Given the description of an element on the screen output the (x, y) to click on. 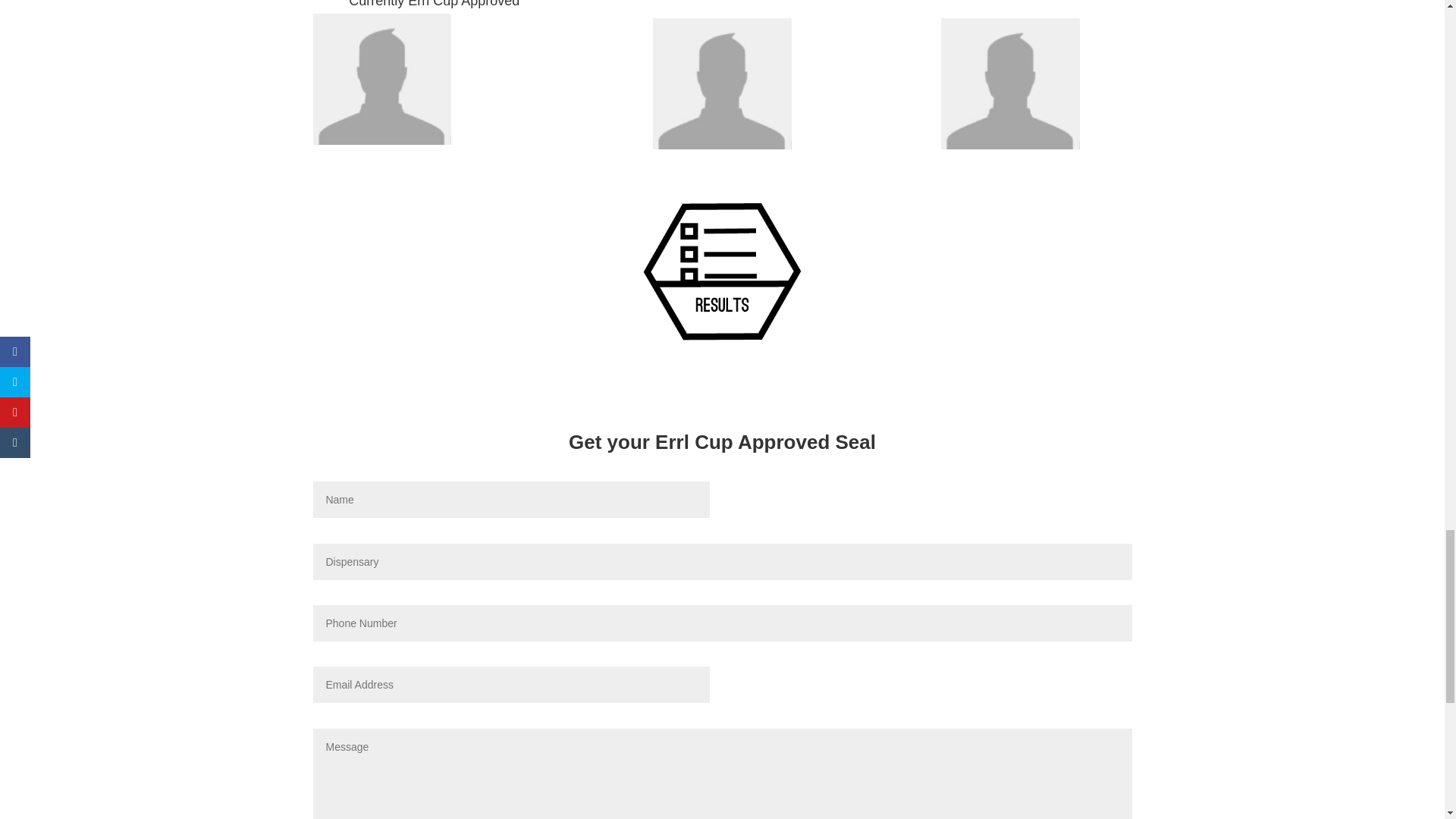
avatar-none-M-400x380 (722, 145)
avatar-none-M-400x380 (1010, 145)
avatar-none-M-400x380 (382, 141)
